Given the description of an element on the screen output the (x, y) to click on. 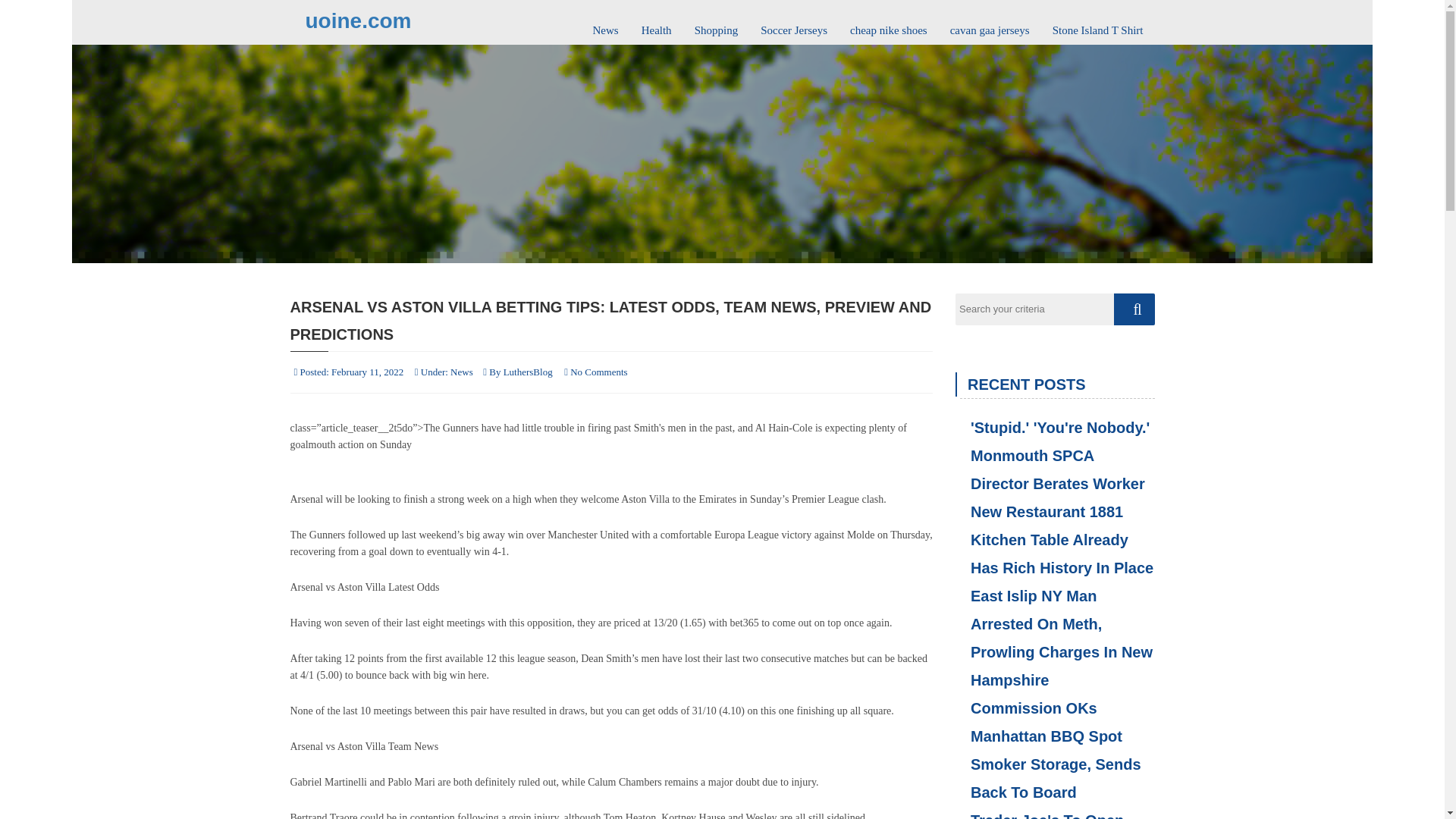
News (604, 24)
Soccer Jerseys (793, 24)
Shopping (715, 24)
cavan gaa jerseys (990, 24)
February 11, 2022 (367, 371)
uoine.com (357, 20)
News (461, 371)
cheap nike shoes (888, 24)
Health (656, 24)
Trader Joe's To Open Aug. 1 In Santee (1054, 812)
LuthersBlog (528, 371)
Stone Island T Shirt (1097, 24)
No Comments (598, 371)
